Given the description of an element on the screen output the (x, y) to click on. 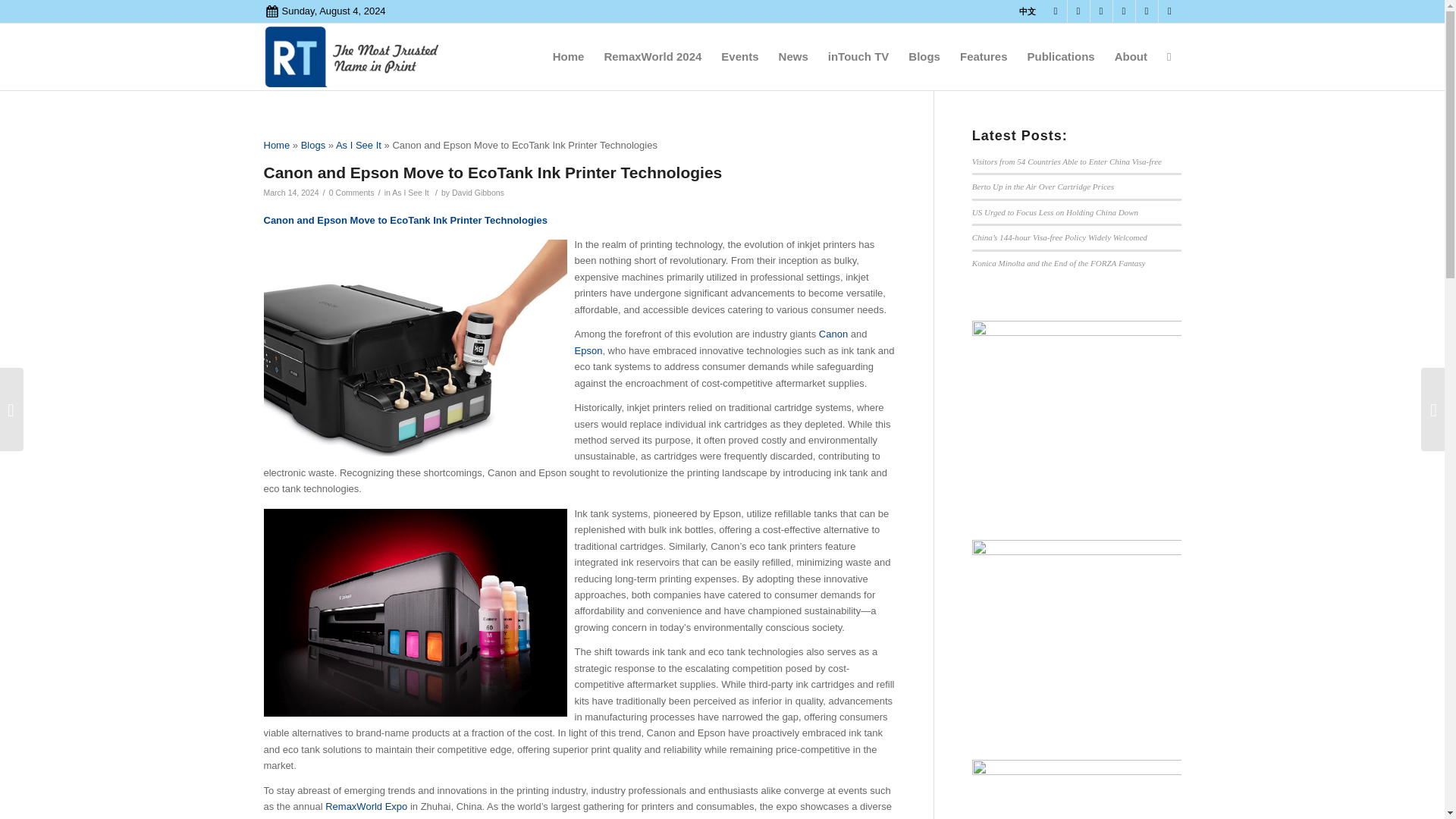
Vimeo (1124, 11)
Youtube (1146, 11)
LinkedIn (1101, 11)
Twitter (1078, 11)
Rss (1169, 11)
RemaxWorld 2024 (652, 56)
Facebook (1056, 11)
RemaxWorld 2024 (652, 56)
RT-logo-old-big-old-jiazi-3 (354, 56)
